Given the description of an element on the screen output the (x, y) to click on. 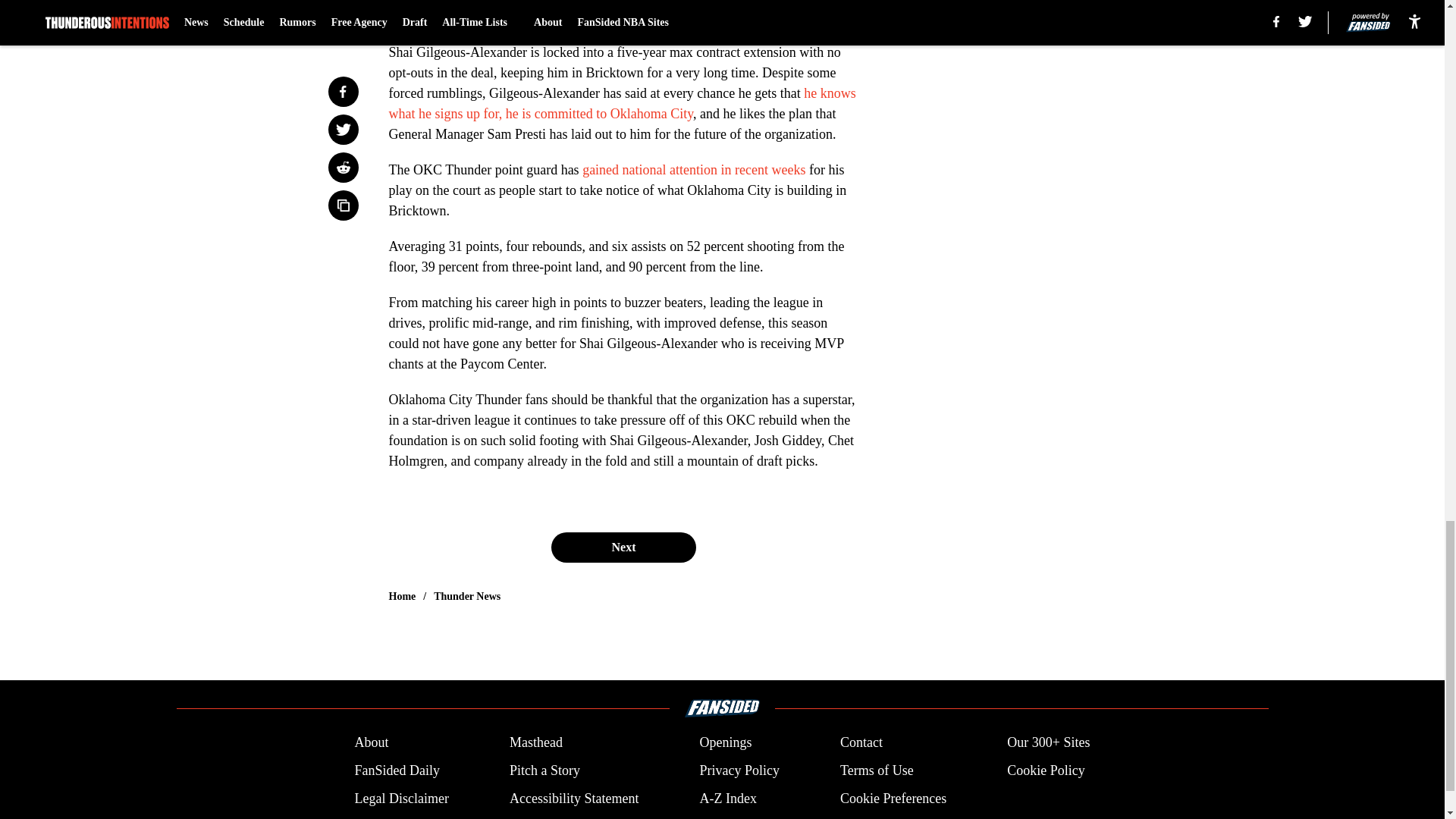
About (370, 742)
Pitch a Story (544, 770)
Privacy Policy (738, 770)
Thunder News (466, 596)
Masthead (535, 742)
Openings (724, 742)
gained national attention in recent weeks (693, 169)
FanSided Daily (396, 770)
Next (622, 547)
Home (401, 596)
Contact (861, 742)
